Given the description of an element on the screen output the (x, y) to click on. 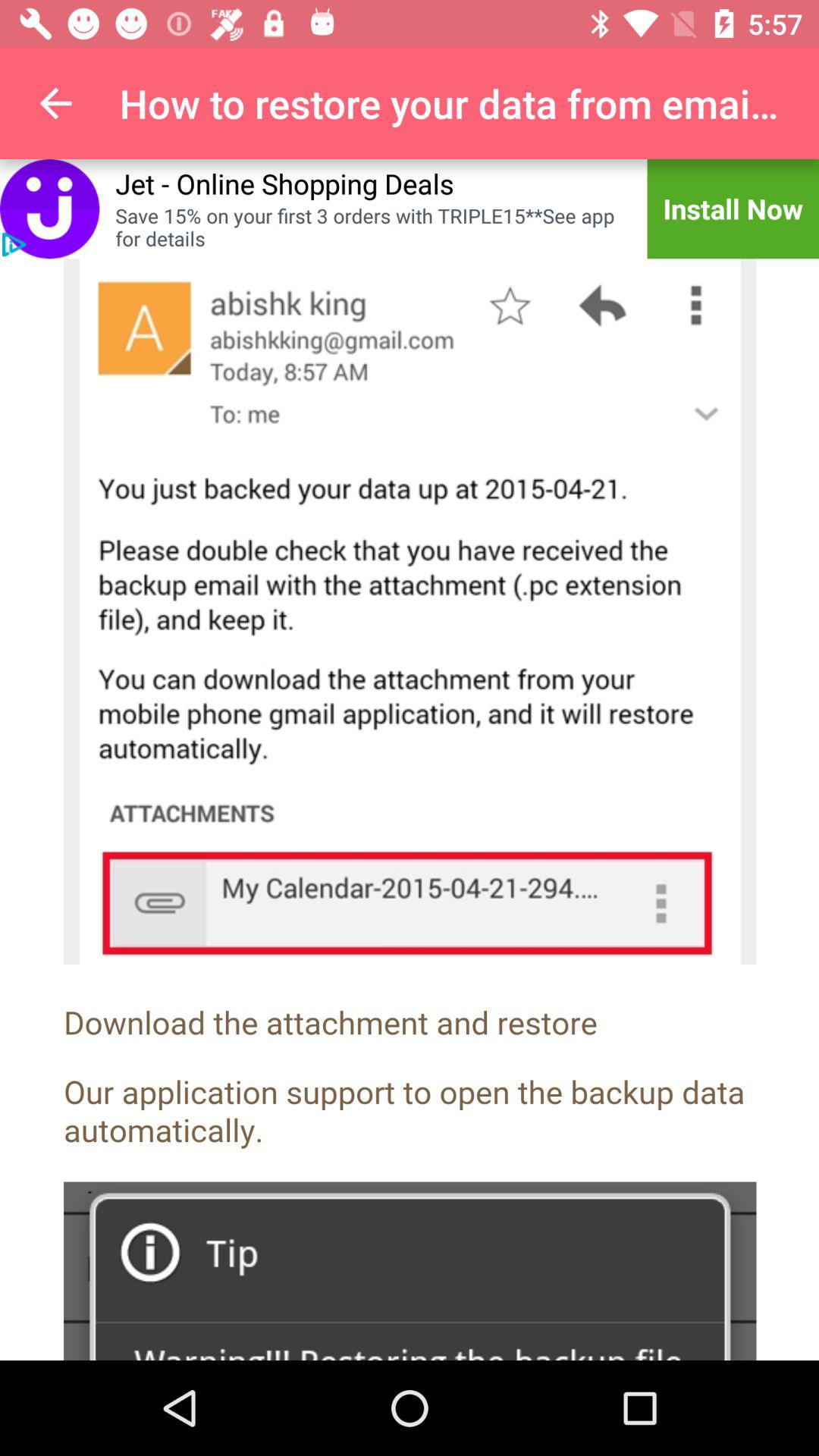
click the app icon (49, 208)
